Given the description of an element on the screen output the (x, y) to click on. 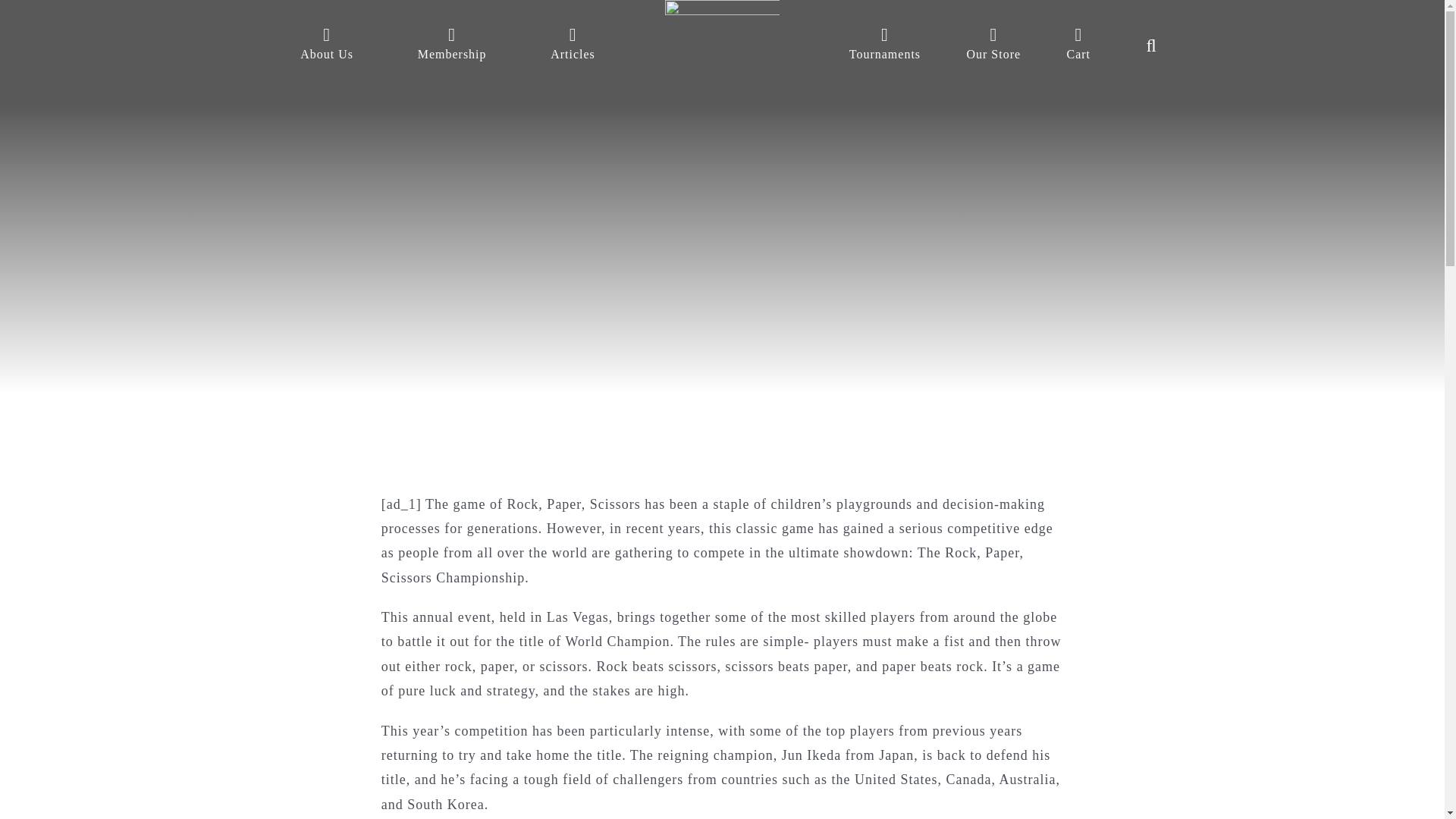
Articles (572, 45)
Our Store (993, 45)
About Us (326, 45)
Tournaments (884, 45)
Cart (1078, 45)
Membership (451, 45)
